Given the description of an element on the screen output the (x, y) to click on. 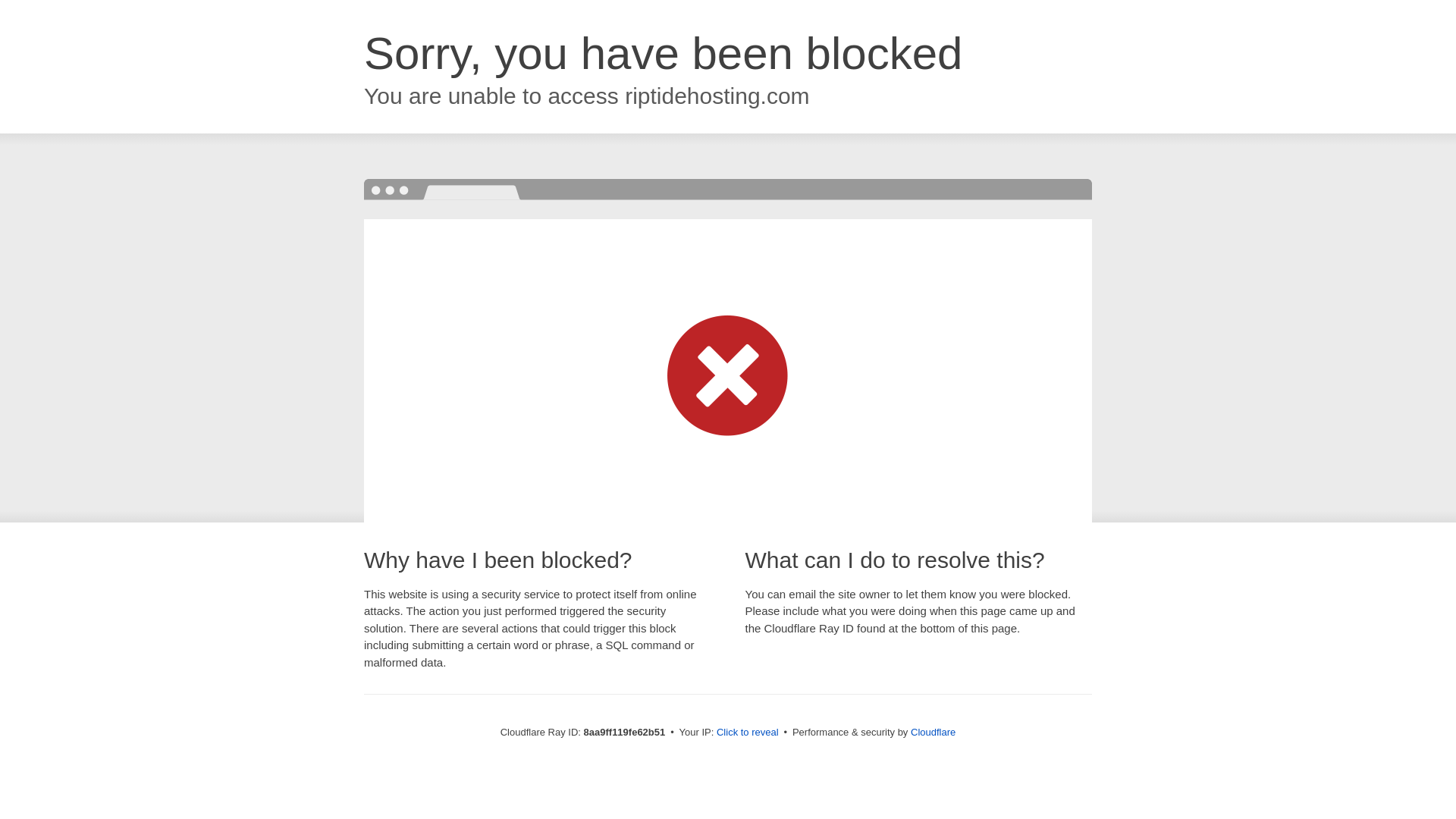
Click to reveal (747, 732)
Cloudflare (933, 731)
